Given the description of an element on the screen output the (x, y) to click on. 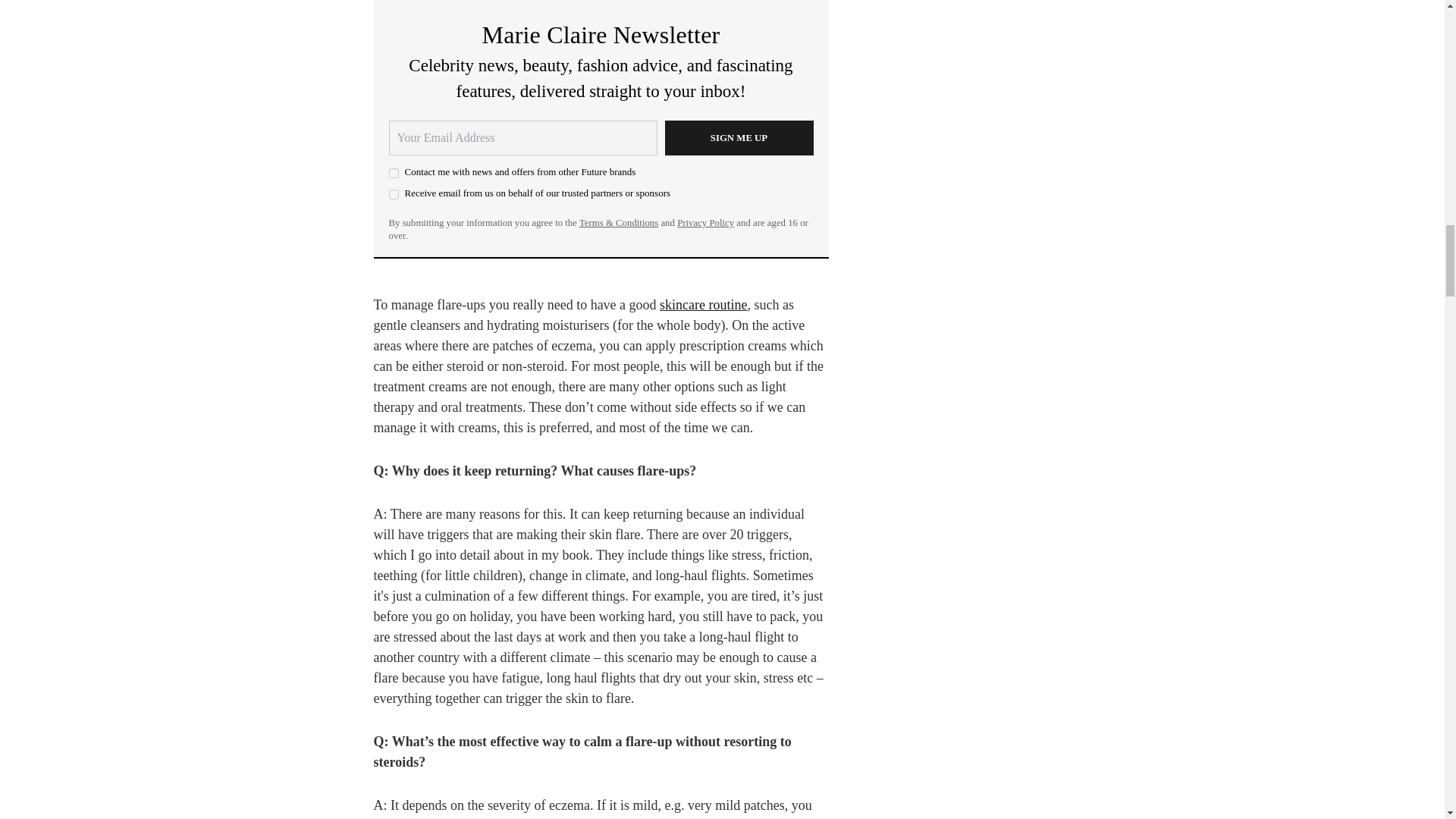
Sign me up (737, 137)
on (392, 194)
on (392, 173)
